Given the description of an element on the screen output the (x, y) to click on. 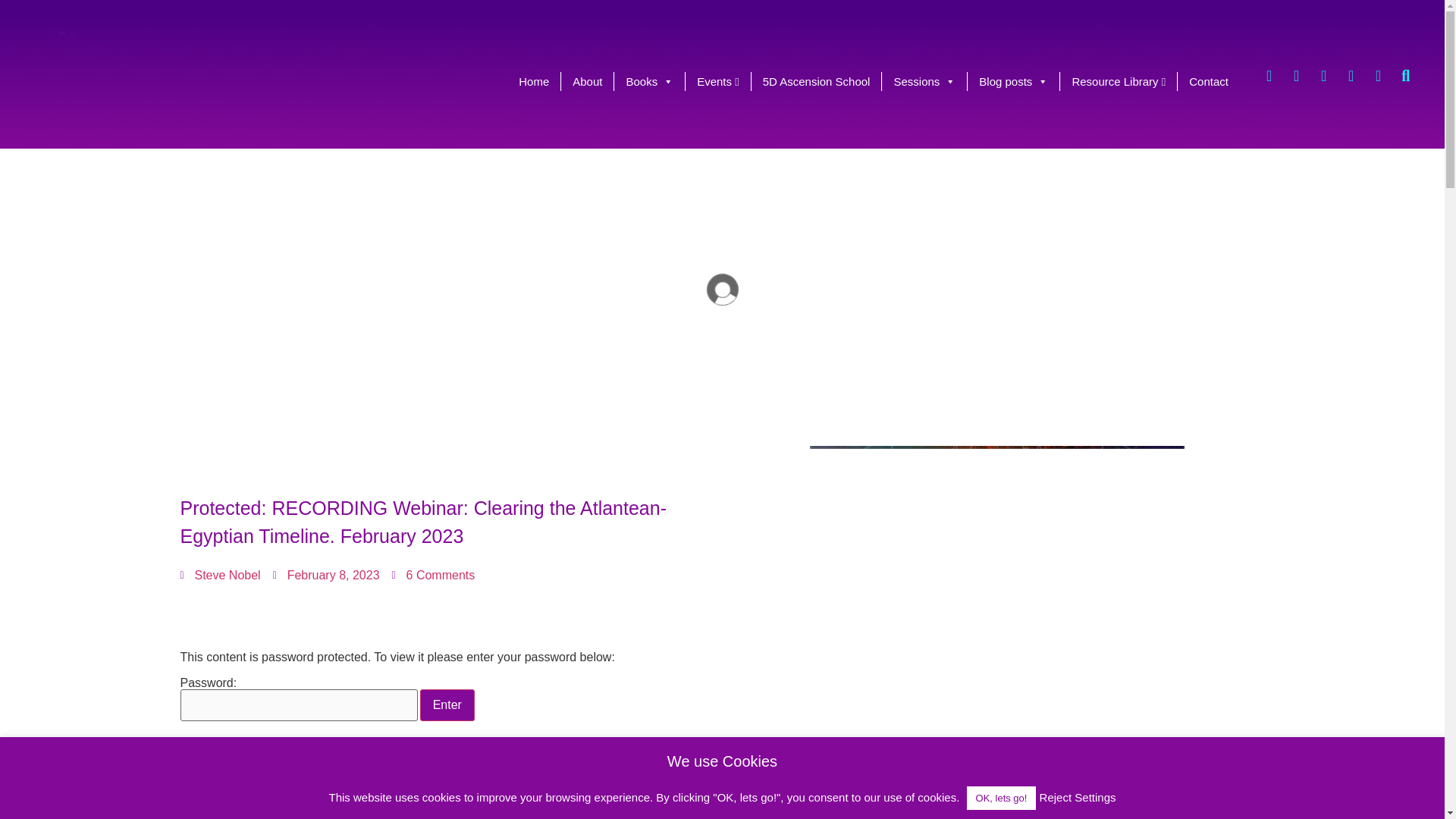
Home (533, 81)
Contact (1208, 81)
Books (649, 81)
5D Ascension School (816, 81)
Sessions (924, 81)
About (586, 81)
Blog posts (1013, 81)
Enter (447, 705)
Events (718, 81)
Resource Library (1117, 81)
